Given the description of an element on the screen output the (x, y) to click on. 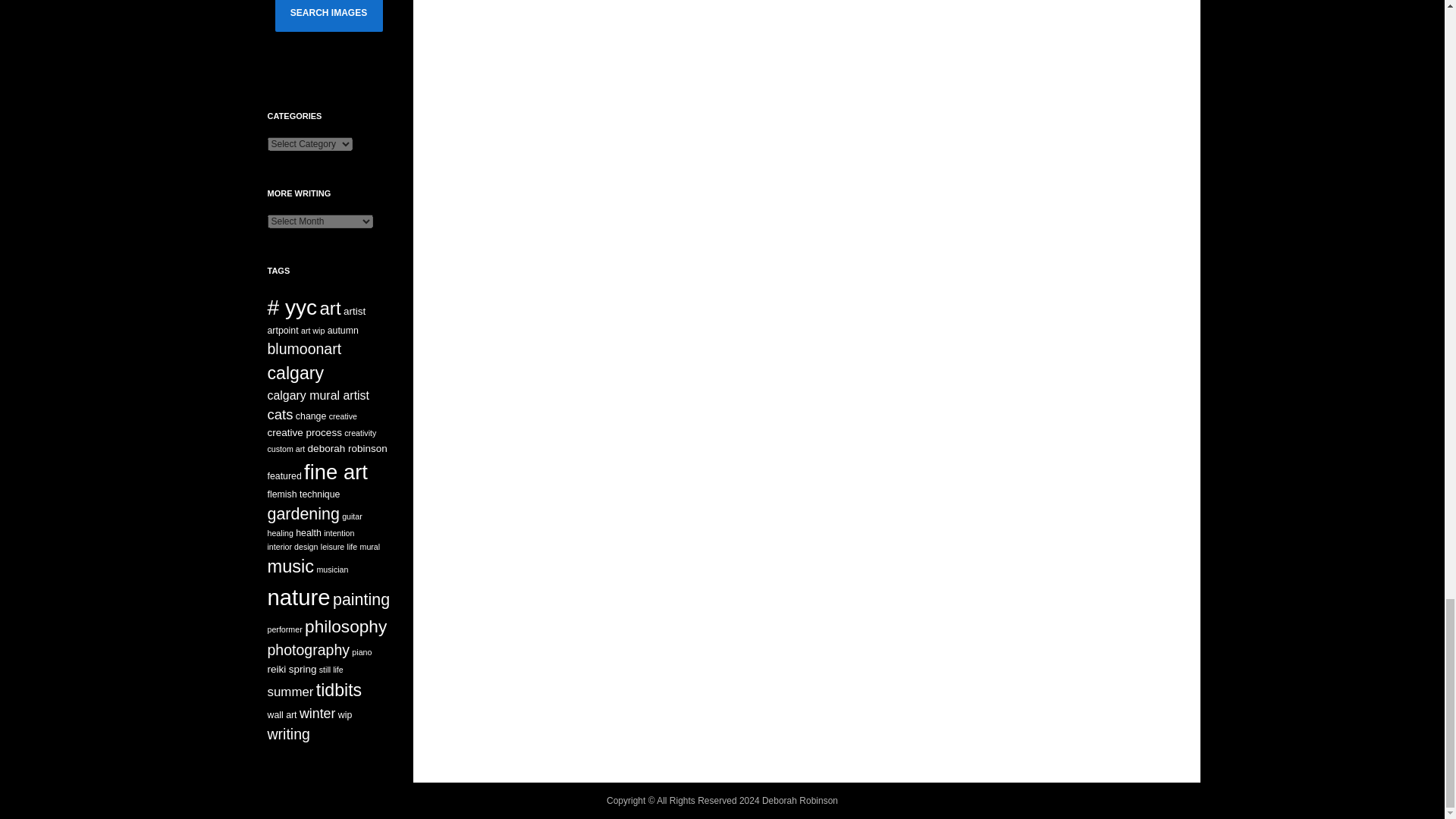
Search Images (328, 15)
Search Images (328, 15)
